Given the description of an element on the screen output the (x, y) to click on. 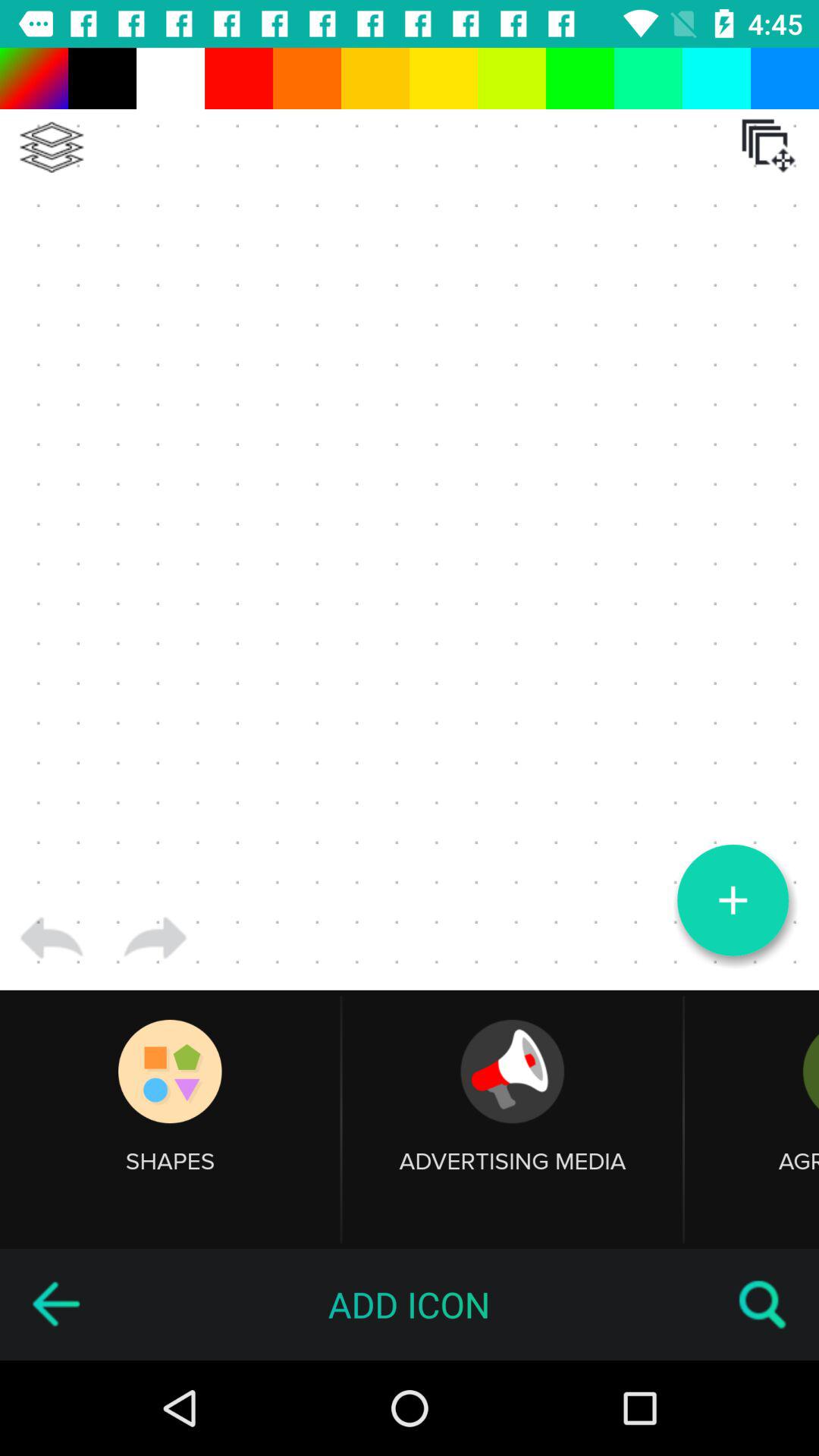
go to next (155, 938)
